Given the description of an element on the screen output the (x, y) to click on. 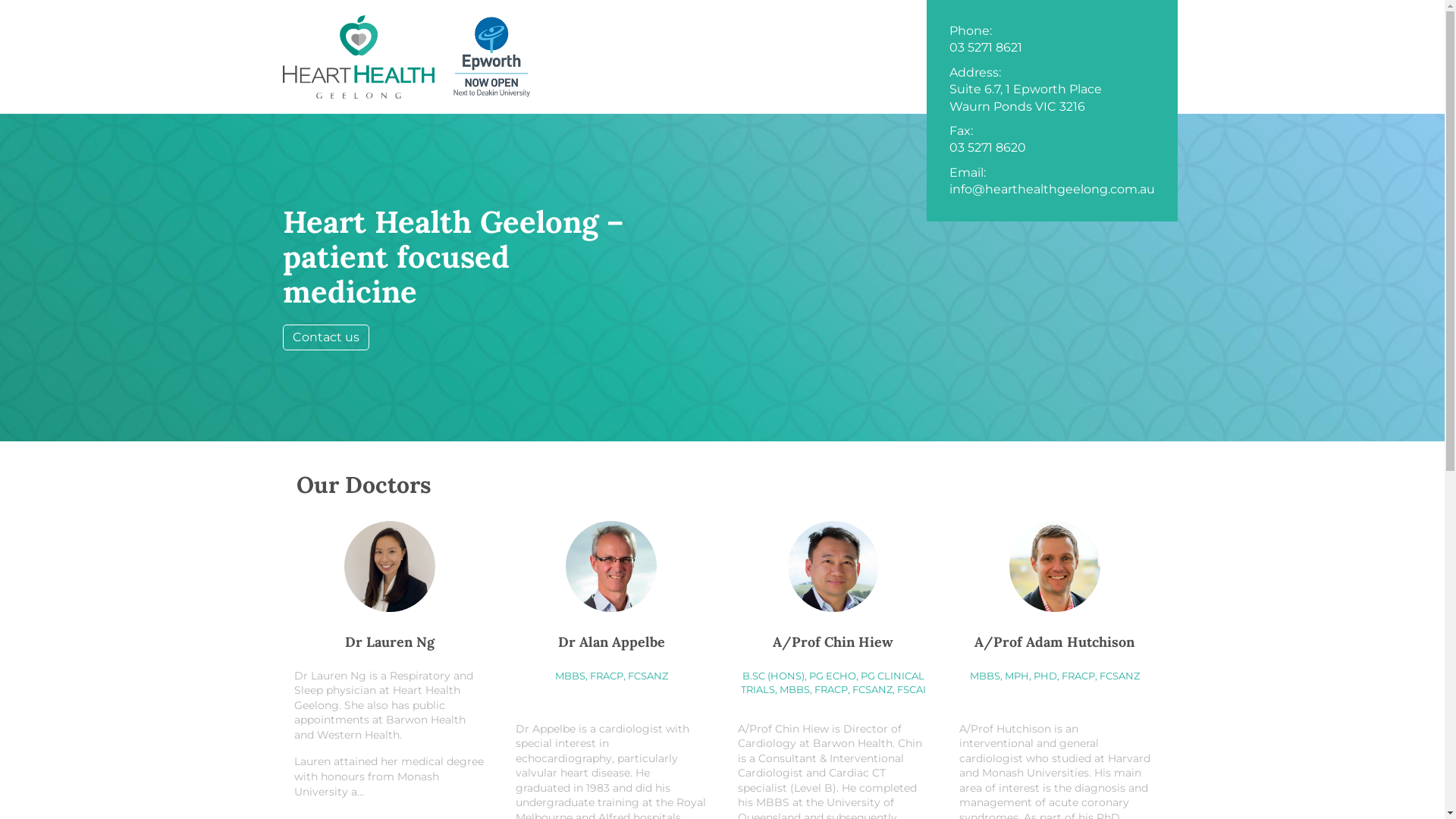
Contact us Element type: text (325, 337)
